Given the description of an element on the screen output the (x, y) to click on. 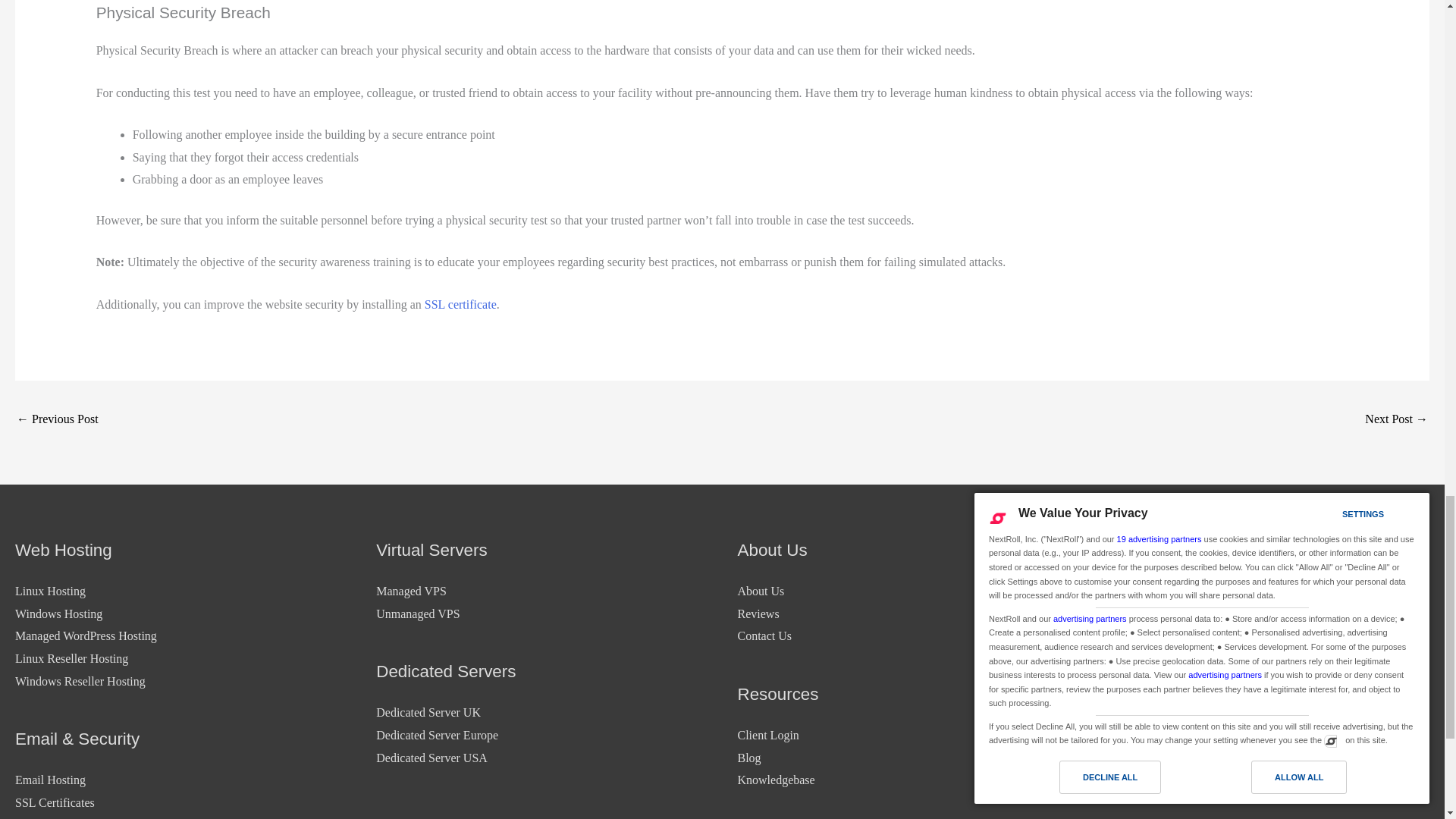
SSL certificate (460, 304)
How to Create A User Account In CentOS Web Panel (57, 420)
6 Huge Reasons Why You Should Use Coupons (1396, 420)
